Given the description of an element on the screen output the (x, y) to click on. 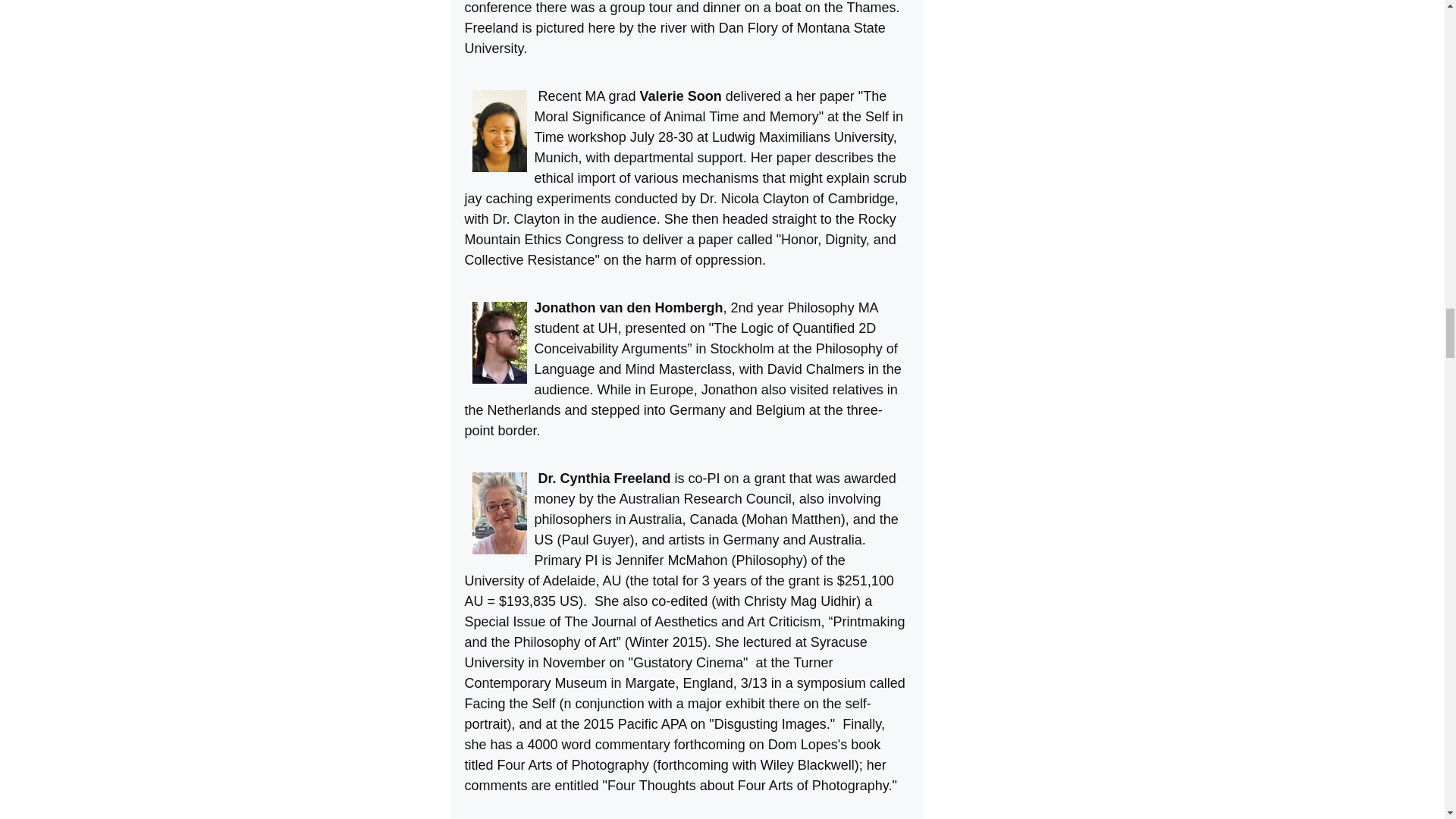
University of Houston (607, 328)
